Given the description of an element on the screen output the (x, y) to click on. 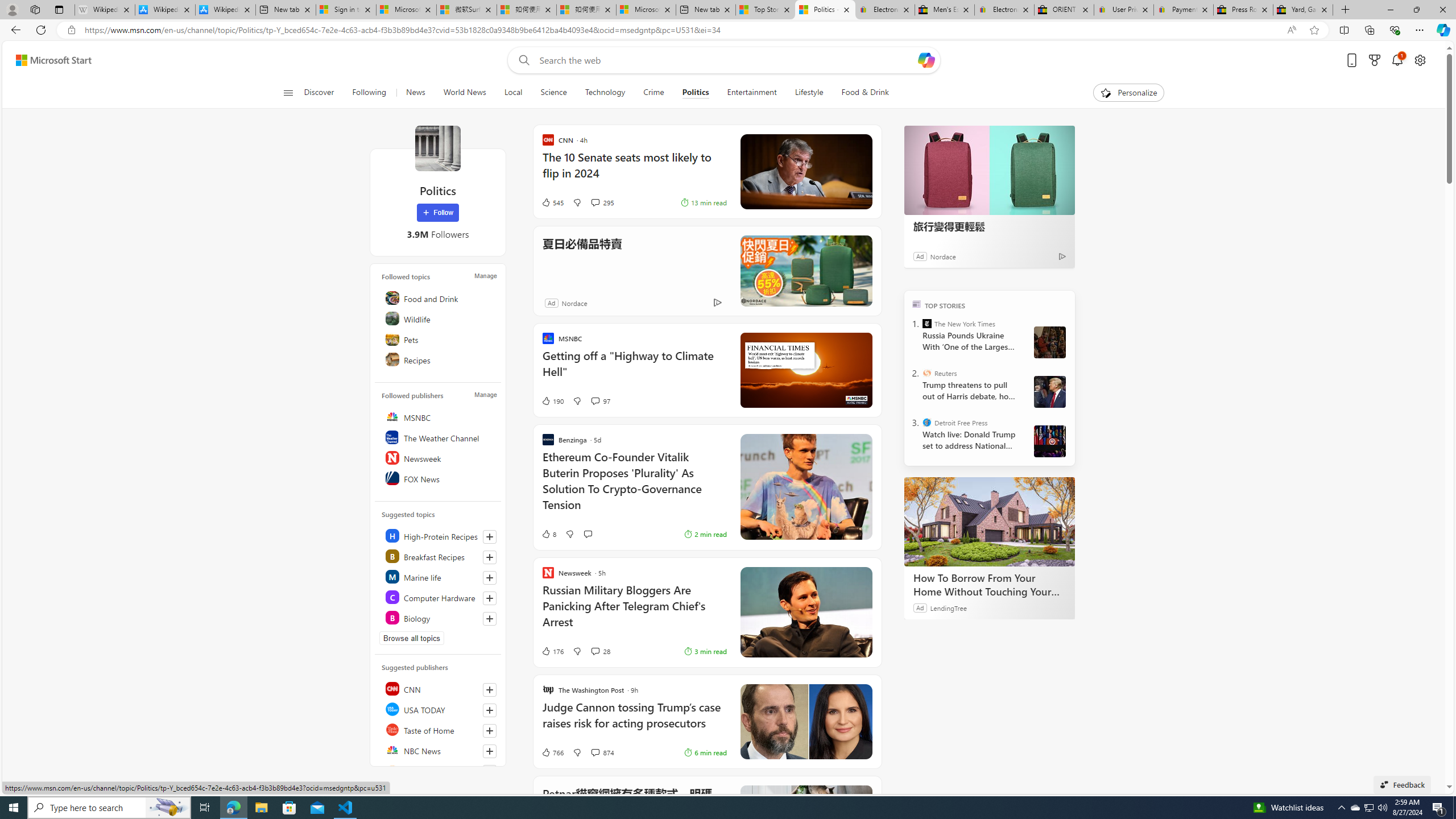
View comments 97 Comment (594, 400)
View comments 874 Comment (601, 752)
